Given the description of an element on the screen output the (x, y) to click on. 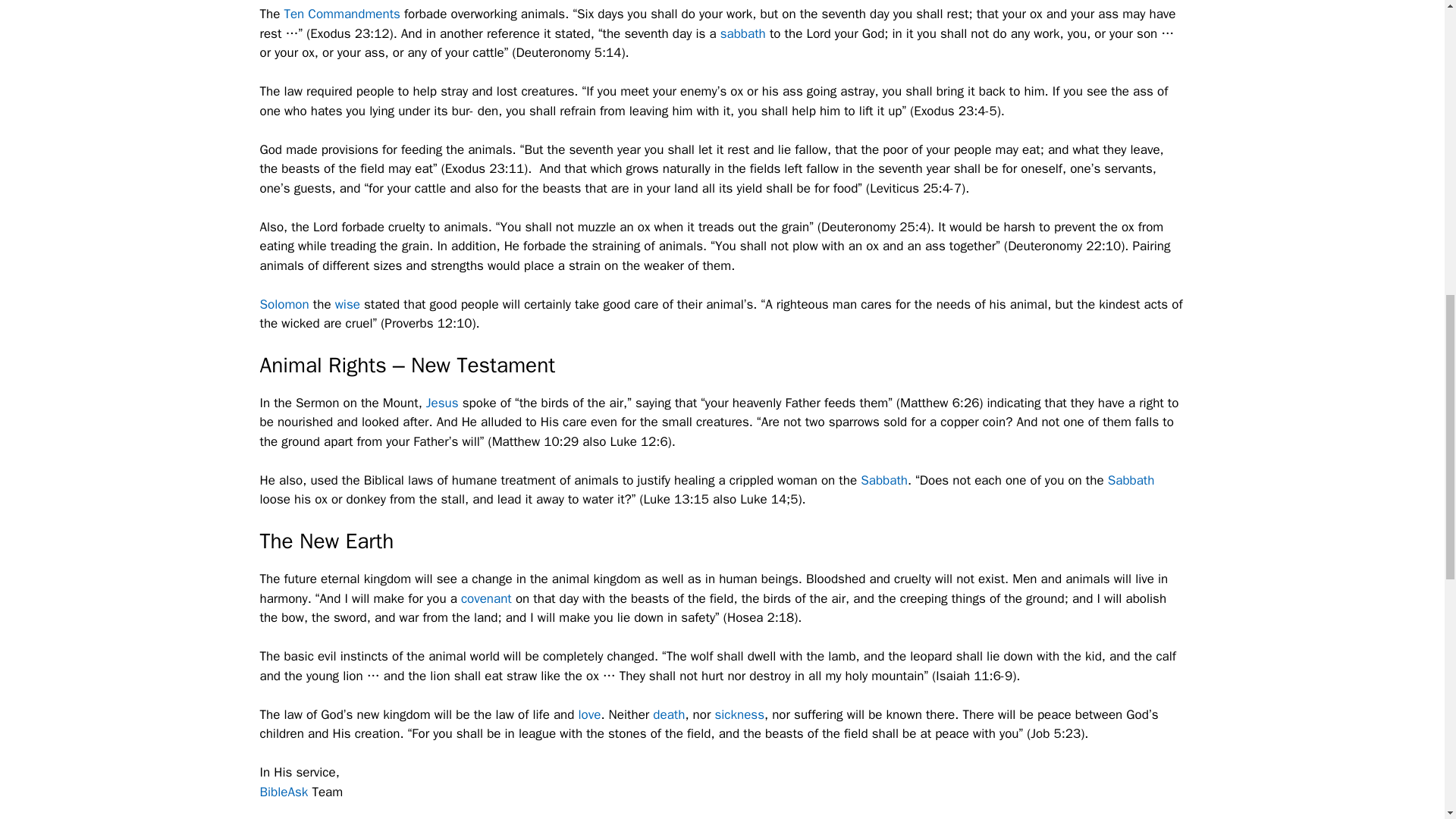
Solomon (283, 304)
BibleAsk (283, 791)
Sabbath (883, 480)
death (668, 714)
Ten Commandments (340, 13)
covenant (486, 598)
sickness (739, 714)
Sabbath (1131, 480)
sabbath (742, 33)
love (589, 714)
